Given the description of an element on the screen output the (x, y) to click on. 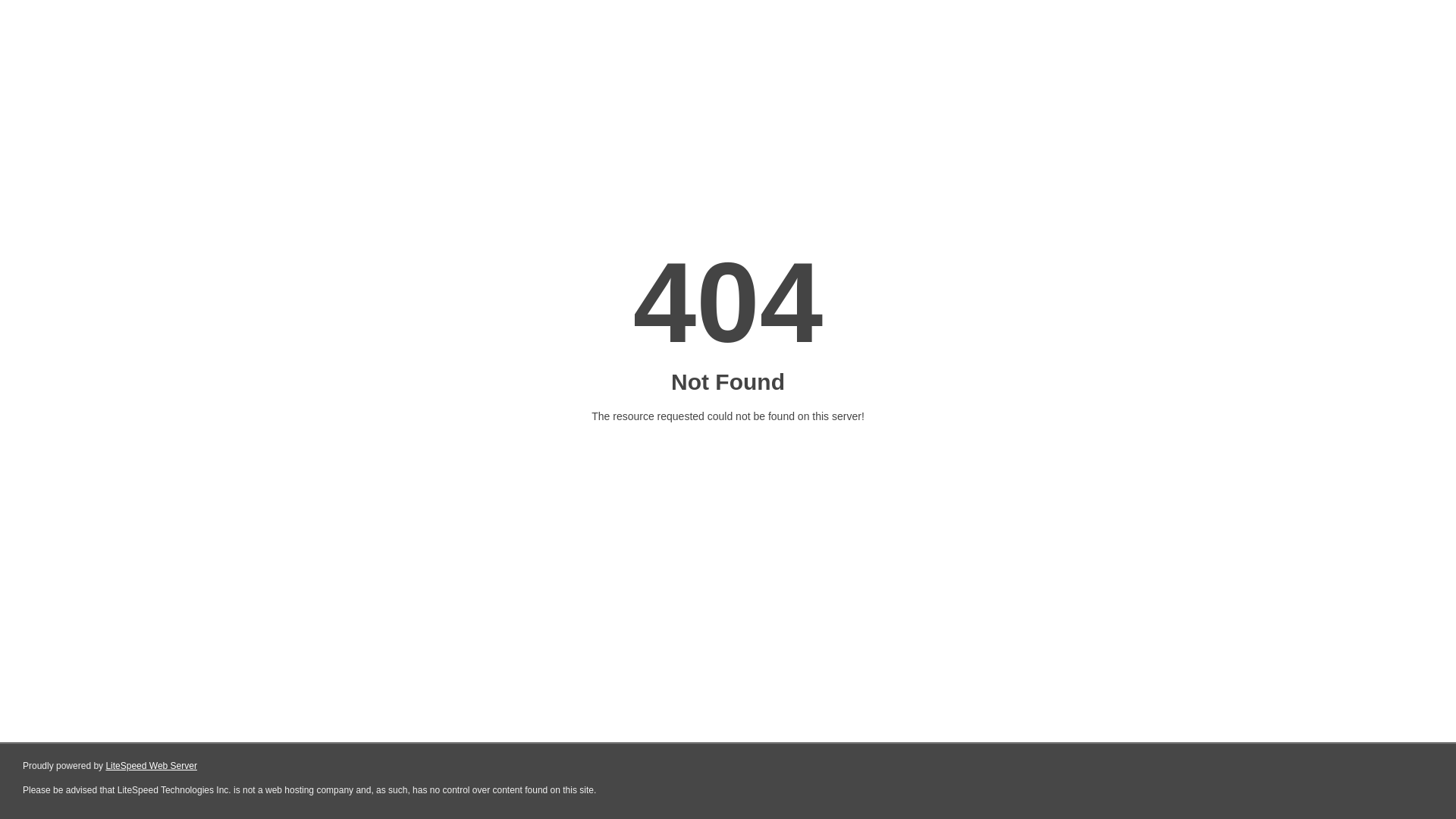
LiteSpeed Web Server Element type: text (151, 765)
